Given the description of an element on the screen output the (x, y) to click on. 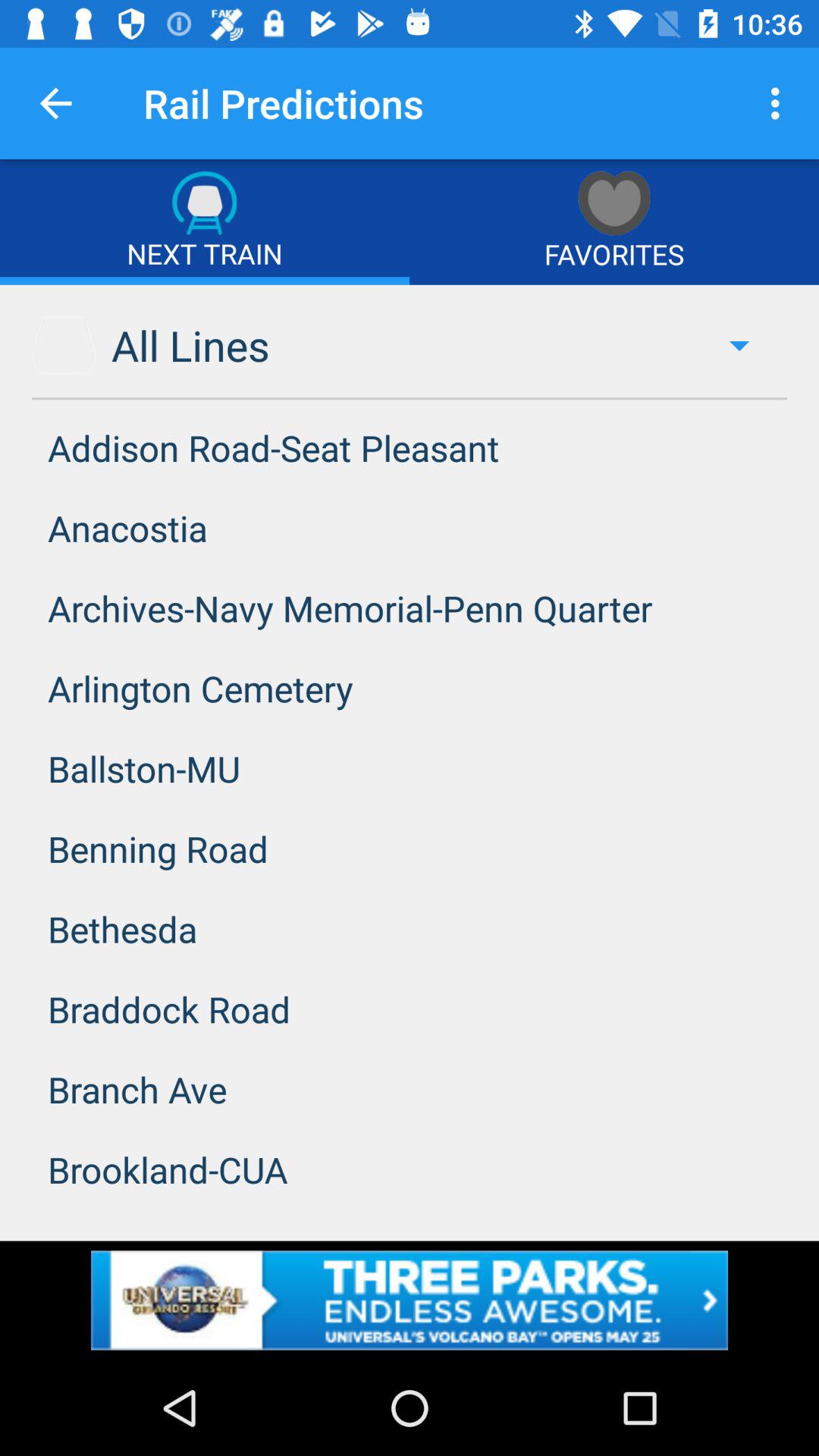
advertisement page (409, 1300)
